Given the description of an element on the screen output the (x, y) to click on. 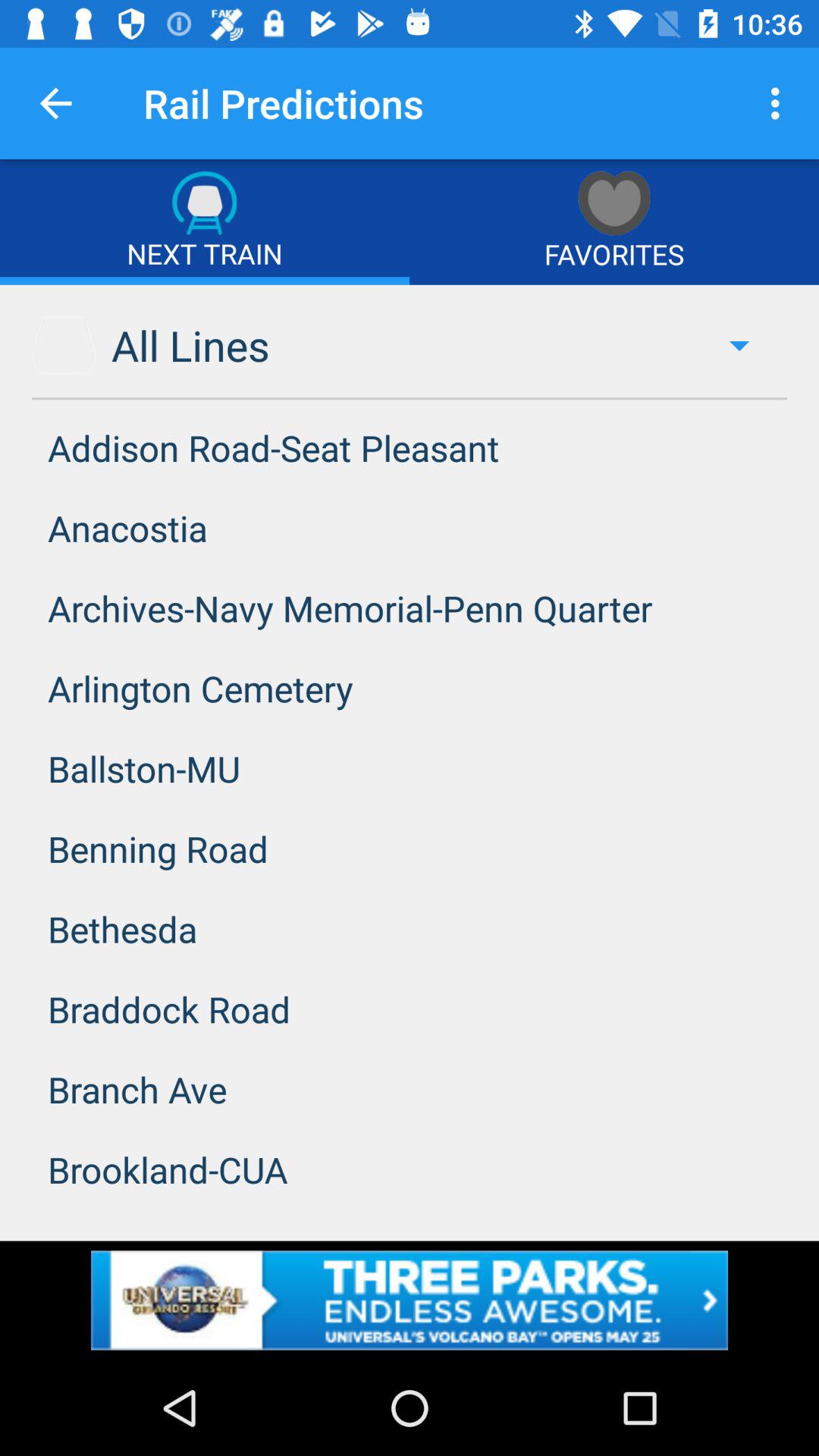
advertisement page (409, 1300)
